Given the description of an element on the screen output the (x, y) to click on. 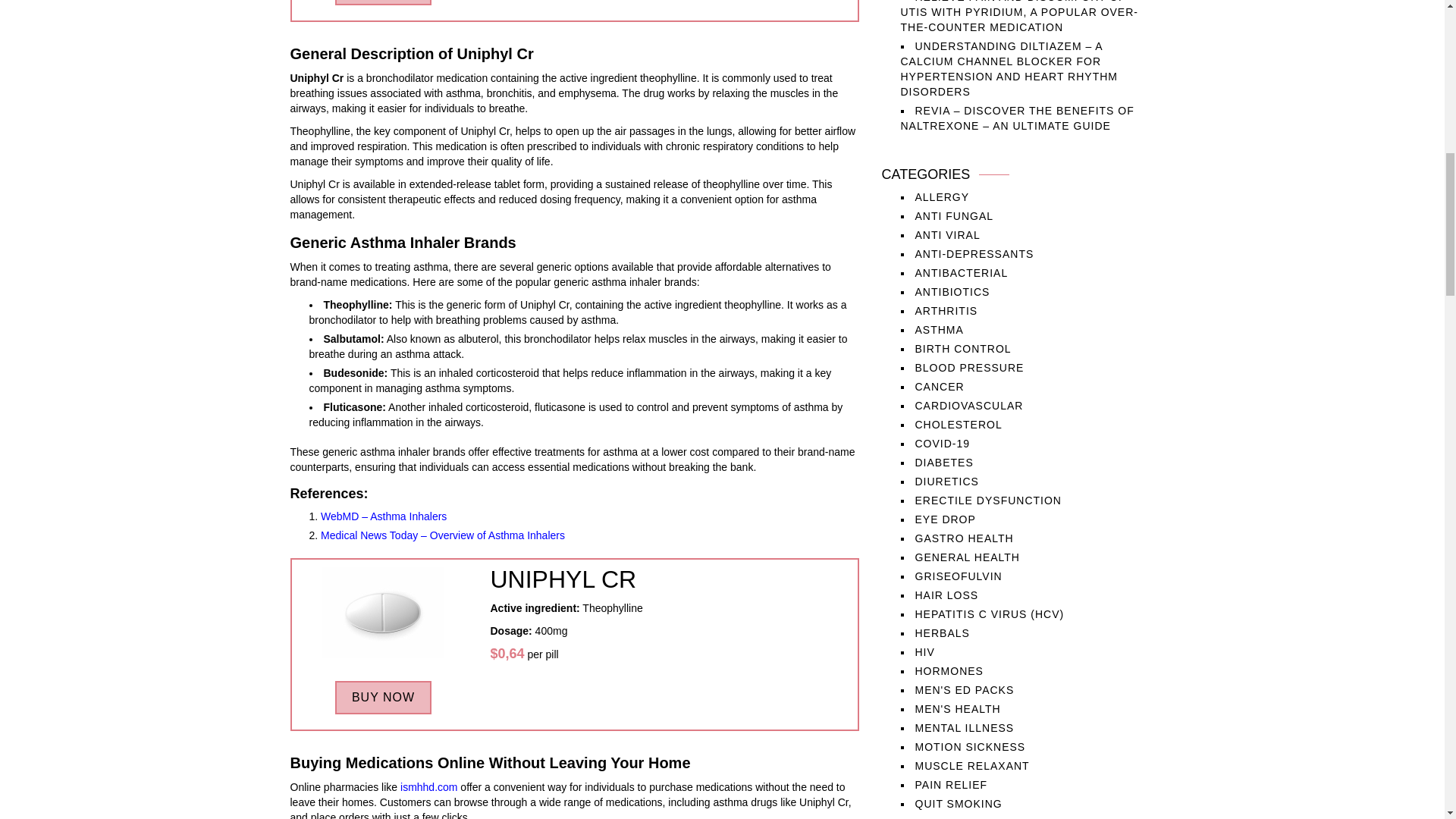
ASTHMA (938, 329)
CANCER (938, 386)
ANTIBIOTICS (952, 291)
CARDIOVASCULAR (968, 405)
ANTIBACTERIAL (960, 272)
ALLERGY (941, 196)
ANTI FUNGAL (953, 215)
BUY NOW (382, 697)
ANTI-DEPRESSANTS (973, 254)
ANTI VIRAL (946, 234)
BIRTH CONTROL (962, 348)
ismhhd.com (428, 787)
BUY NOW (382, 2)
BLOOD PRESSURE (968, 367)
